Given the description of an element on the screen output the (x, y) to click on. 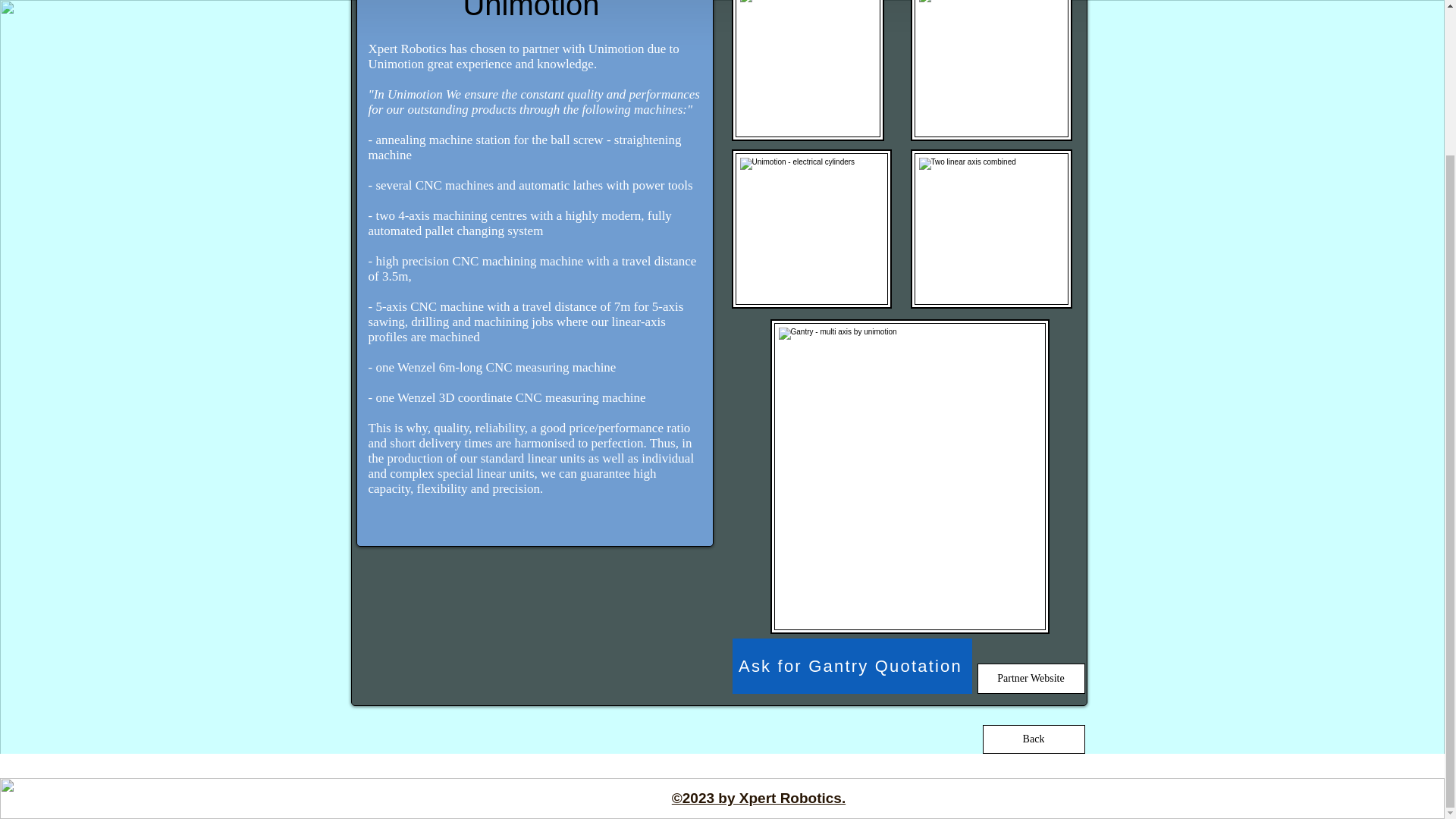
Back (1033, 738)
belt driven axis by unimotion (810, 228)
Partner Website (1030, 678)
Screw driven axis by unimotion (806, 70)
Gantry - multi axis by unimotion (909, 476)
Ask for Gantry Quotation (852, 665)
belt driven axis by unimotion (990, 70)
